Given the description of an element on the screen output the (x, y) to click on. 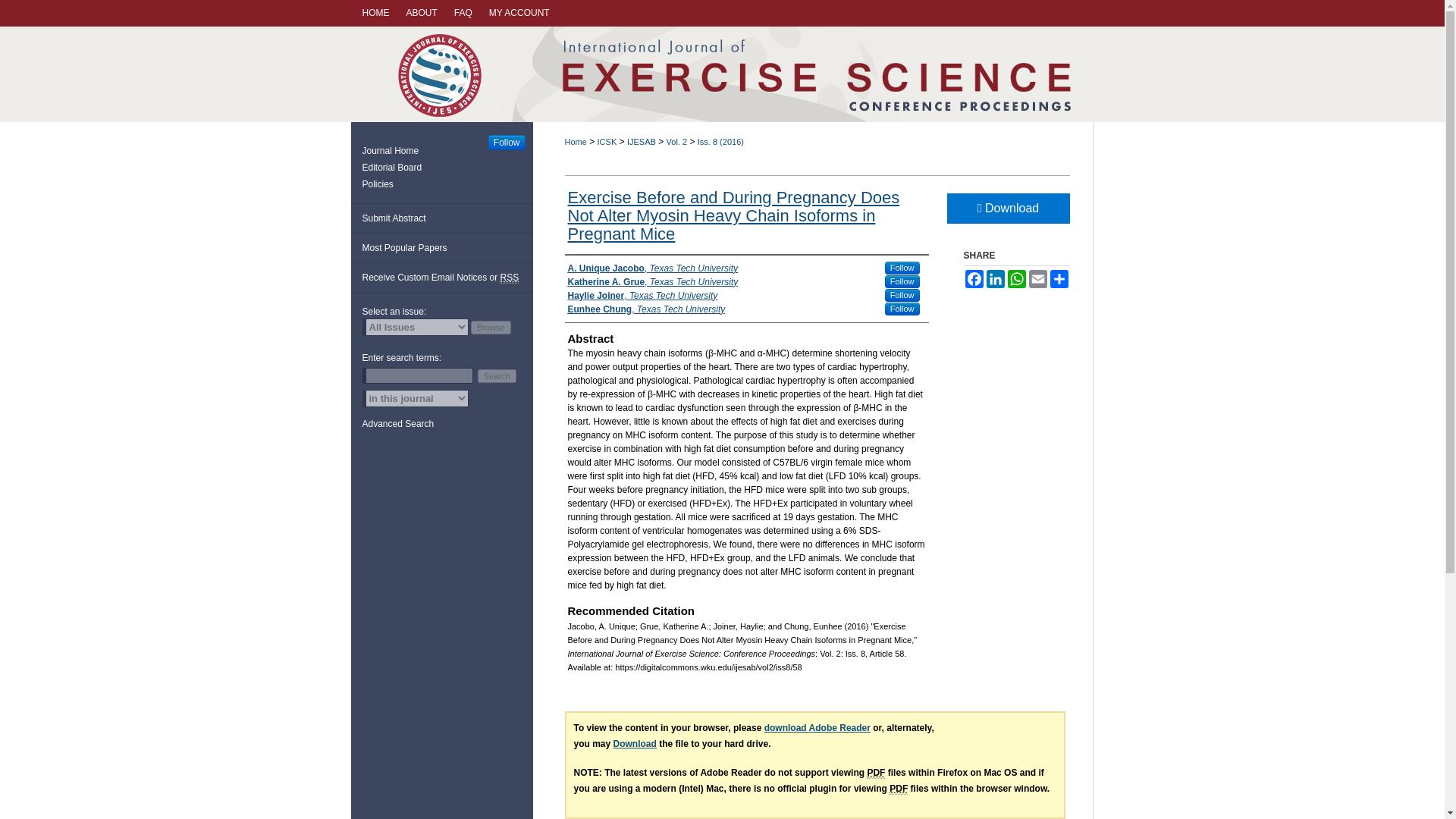
Home (575, 141)
A. Unique Jacobo, Texas Tech University (652, 268)
Katherine A. Grue, Texas Tech University (652, 282)
Download (634, 743)
Portable Document Format (875, 772)
Follow (902, 308)
LinkedIn (995, 279)
Browse (490, 327)
ABOUT (421, 13)
FAQ (462, 13)
Email (1037, 279)
Journal Home (447, 150)
Follow (902, 295)
Follow (902, 267)
Follow (506, 142)
